Given the description of an element on the screen output the (x, y) to click on. 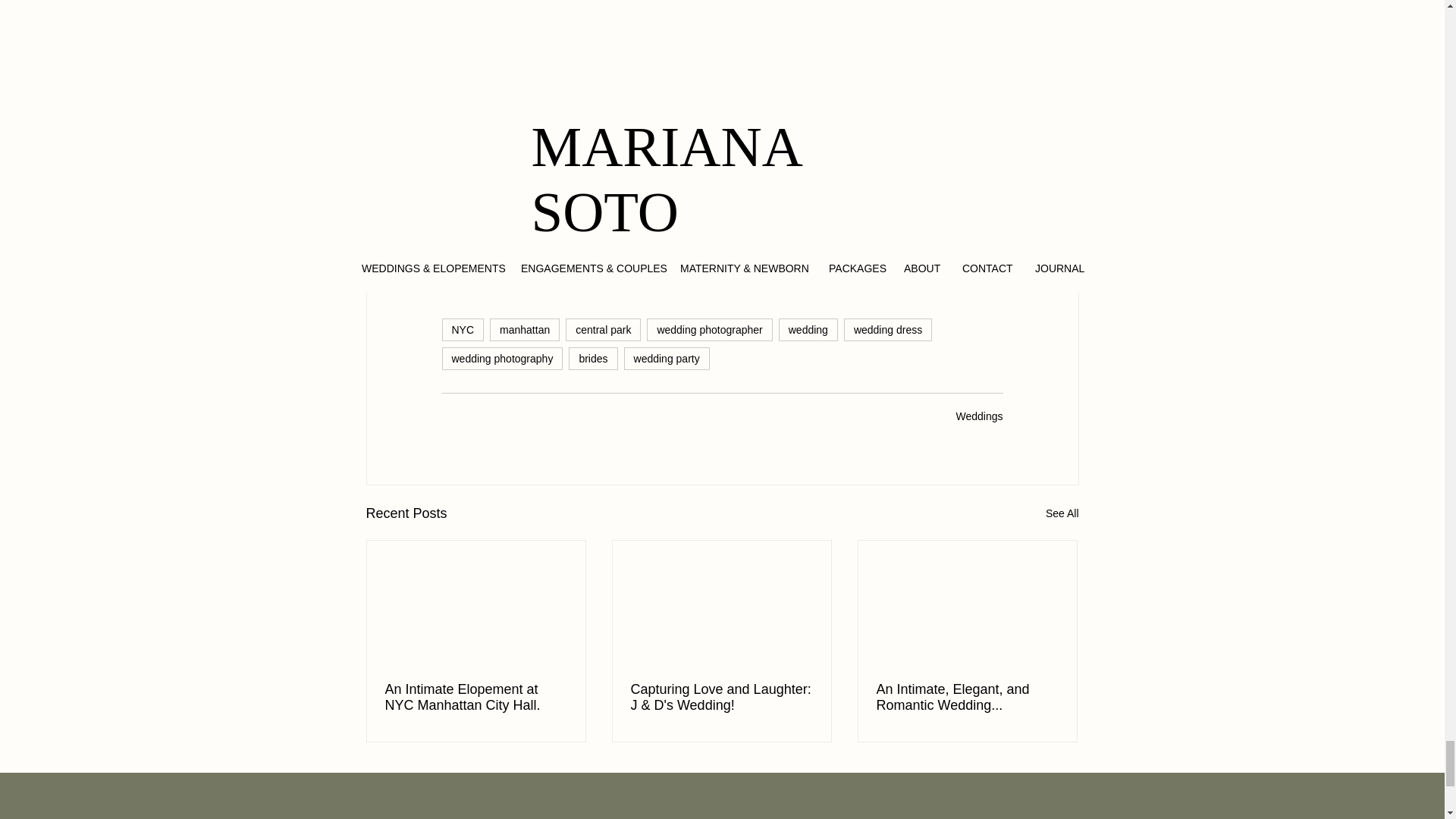
brides (593, 358)
See All (1061, 513)
Weddings (979, 416)
manhattan (524, 329)
An Intimate Elopement at NYC Manhattan City Hall. (476, 697)
An Intimate, Elegant, and Romantic Wedding... (967, 697)
NYC (462, 329)
wedding (808, 329)
wedding party (667, 358)
wedding photographer (708, 329)
wedding photography (501, 358)
wedding dress (887, 329)
central park (603, 329)
